Given the description of an element on the screen output the (x, y) to click on. 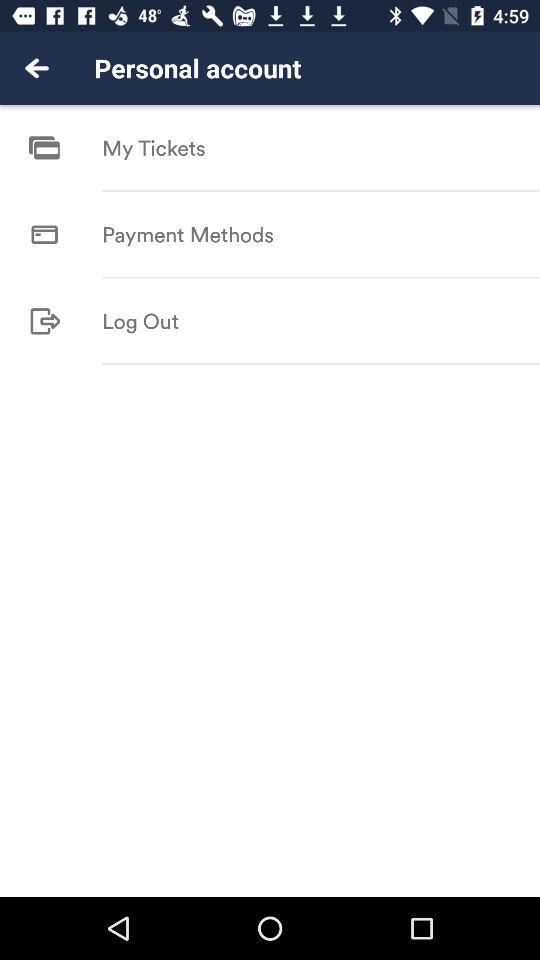
scroll to log out item (140, 320)
